Given the description of an element on the screen output the (x, y) to click on. 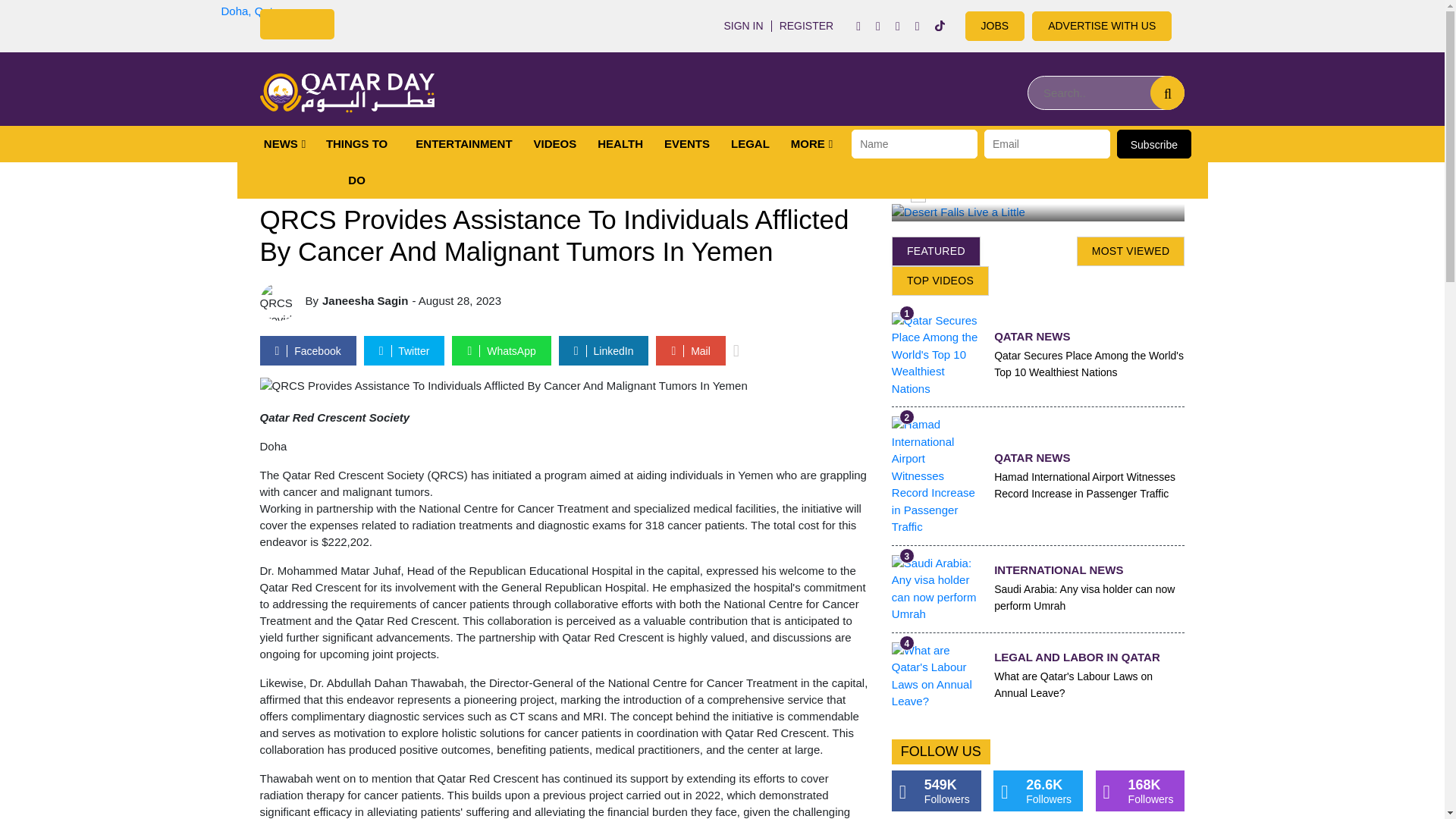
Facebook (857, 25)
ADVERTISE WITH US (1102, 25)
Home (346, 92)
Advertise (995, 25)
Tiktok (940, 25)
Doha, Qatar (252, 10)
Instagram (877, 25)
REGISTER (806, 25)
SIGN IN (743, 25)
Advertise (1102, 25)
